Given the description of an element on the screen output the (x, y) to click on. 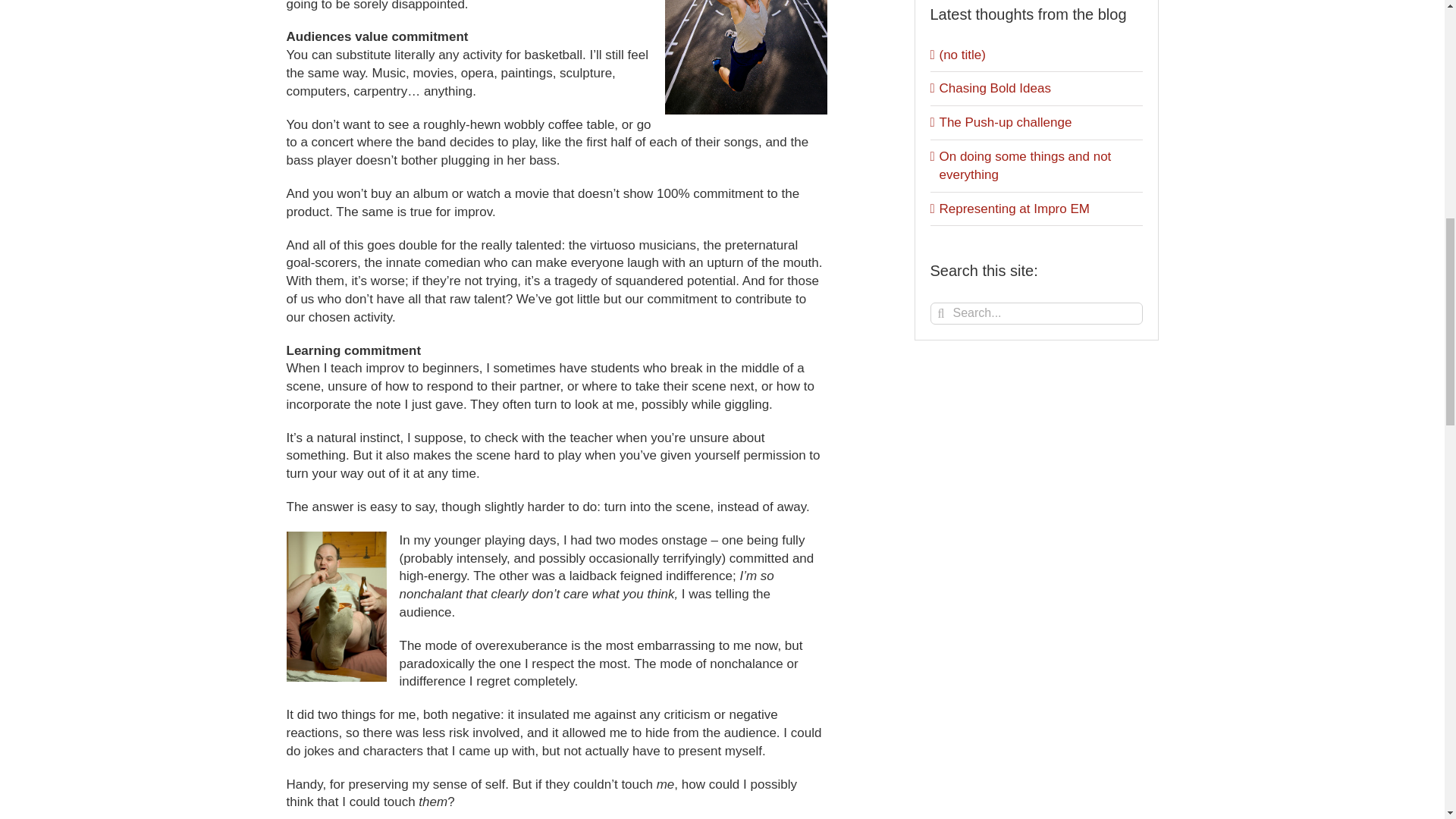
The Push-up challenge (1005, 122)
Chasing Bold Ideas (994, 88)
